Given the description of an element on the screen output the (x, y) to click on. 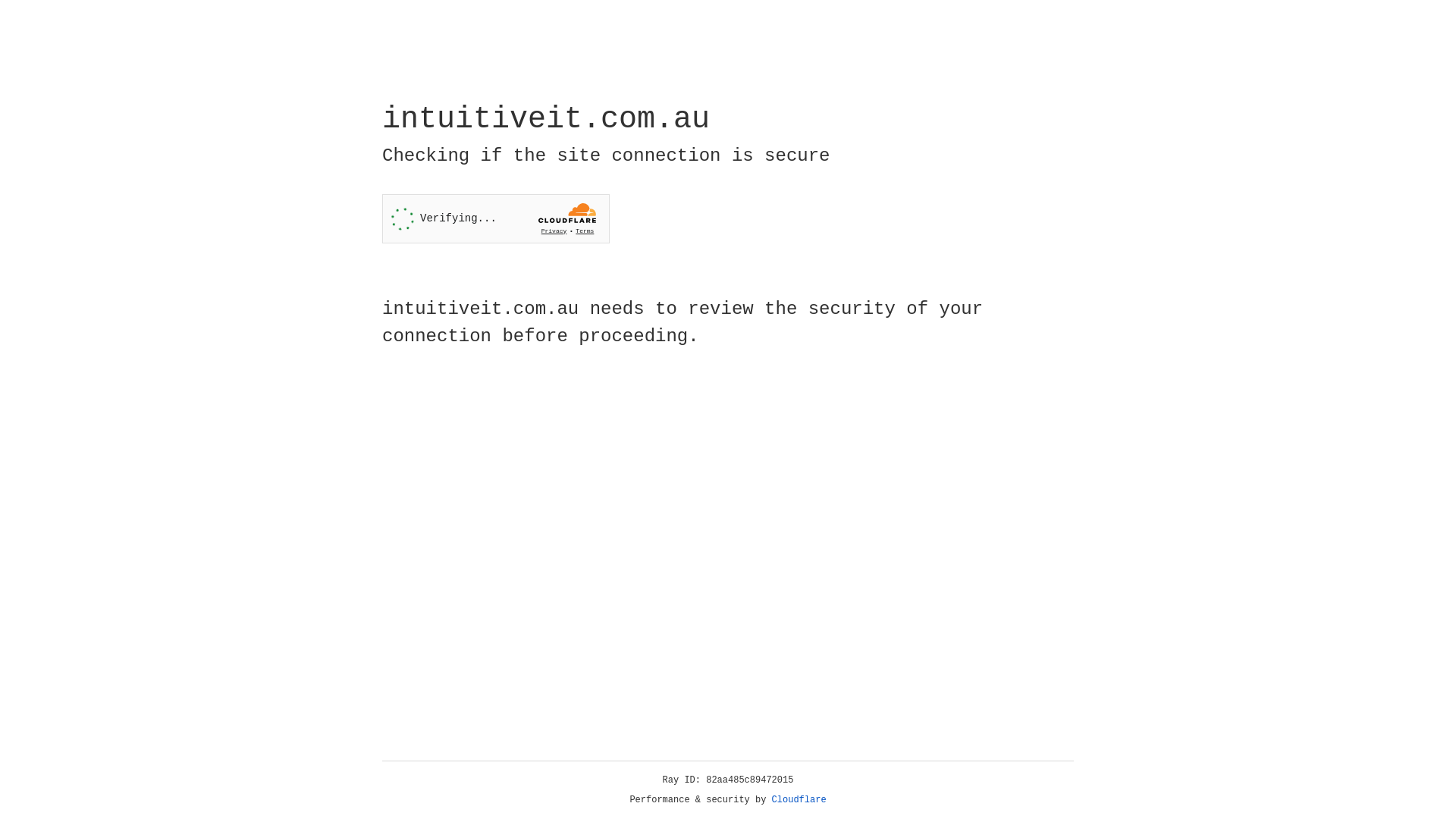
Cloudflare Element type: text (798, 799)
Widget containing a Cloudflare security challenge Element type: hover (495, 218)
